Given the description of an element on the screen output the (x, y) to click on. 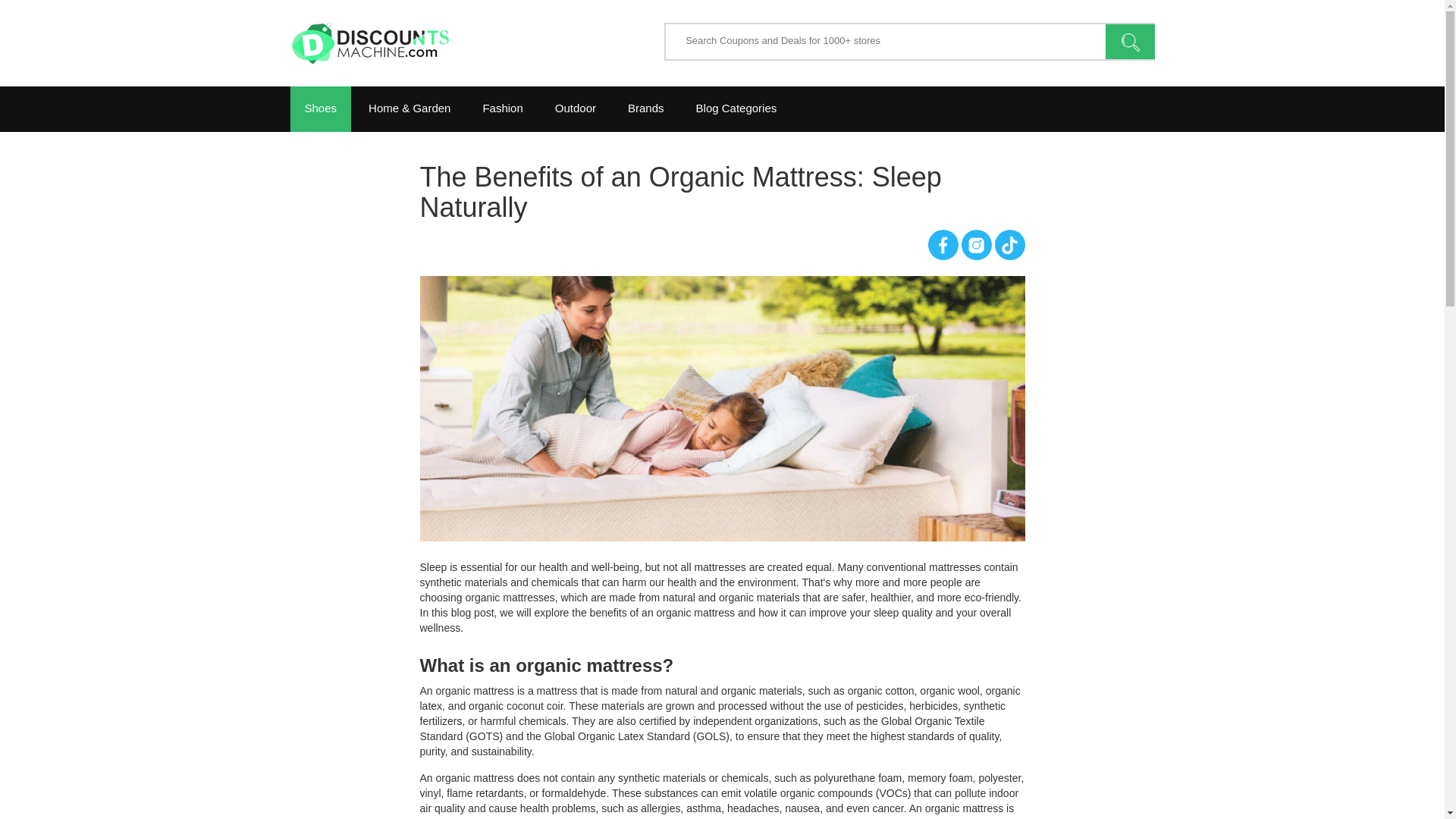
Outdoor (575, 108)
Fashion (502, 108)
Brands (645, 108)
Shoes (319, 108)
Blog Categories (736, 108)
